Given the description of an element on the screen output the (x, y) to click on. 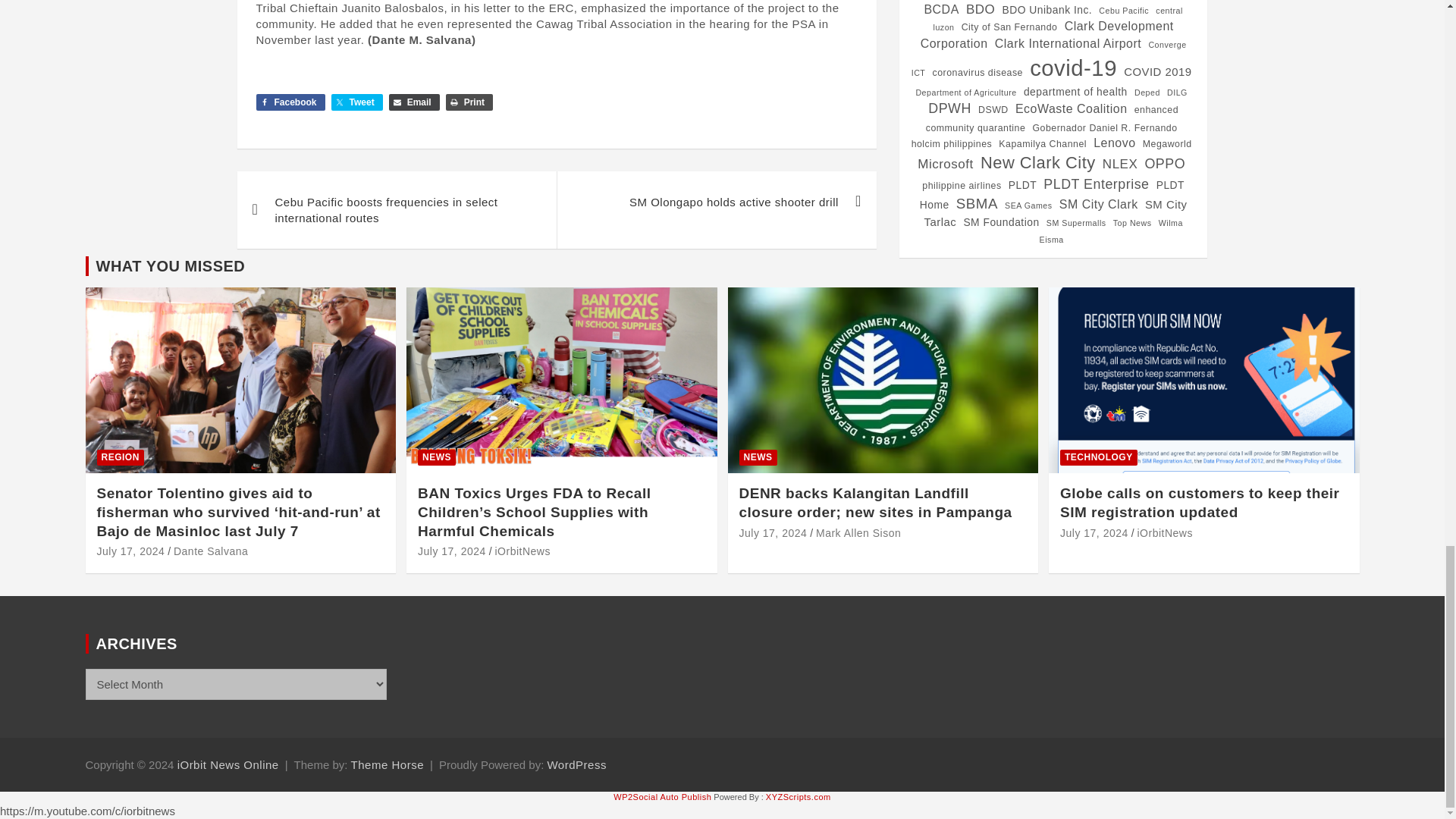
Share via Email (413, 102)
Print this Page (469, 102)
Email (413, 102)
Share on Facebook (290, 102)
Share on Twitter (356, 102)
